Given the description of an element on the screen output the (x, y) to click on. 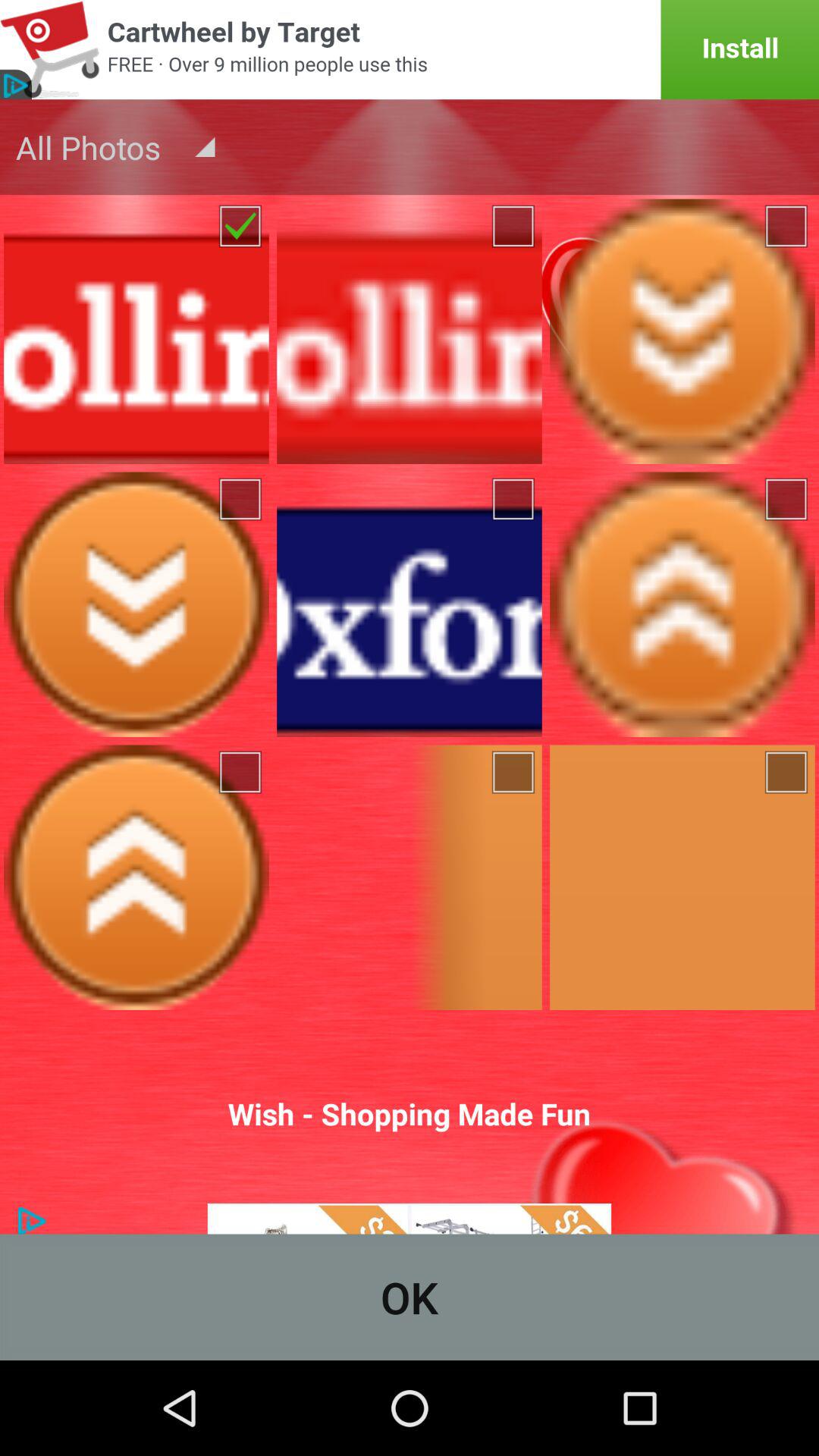
sharp logo (409, 1218)
